Given the description of an element on the screen output the (x, y) to click on. 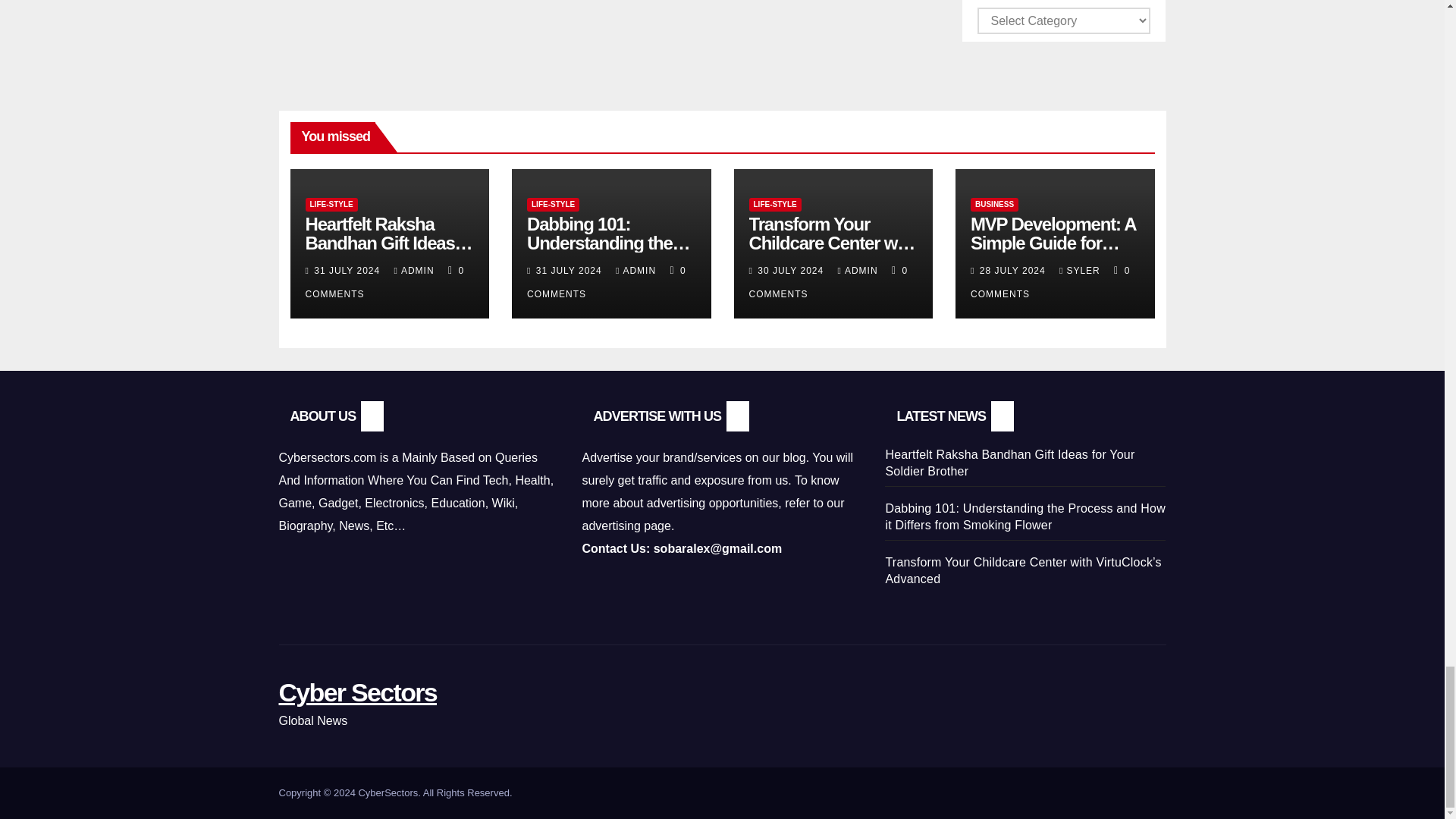
Permalink to: MVP Development: A Simple Guide for Startups (1053, 242)
